Given the description of an element on the screen output the (x, y) to click on. 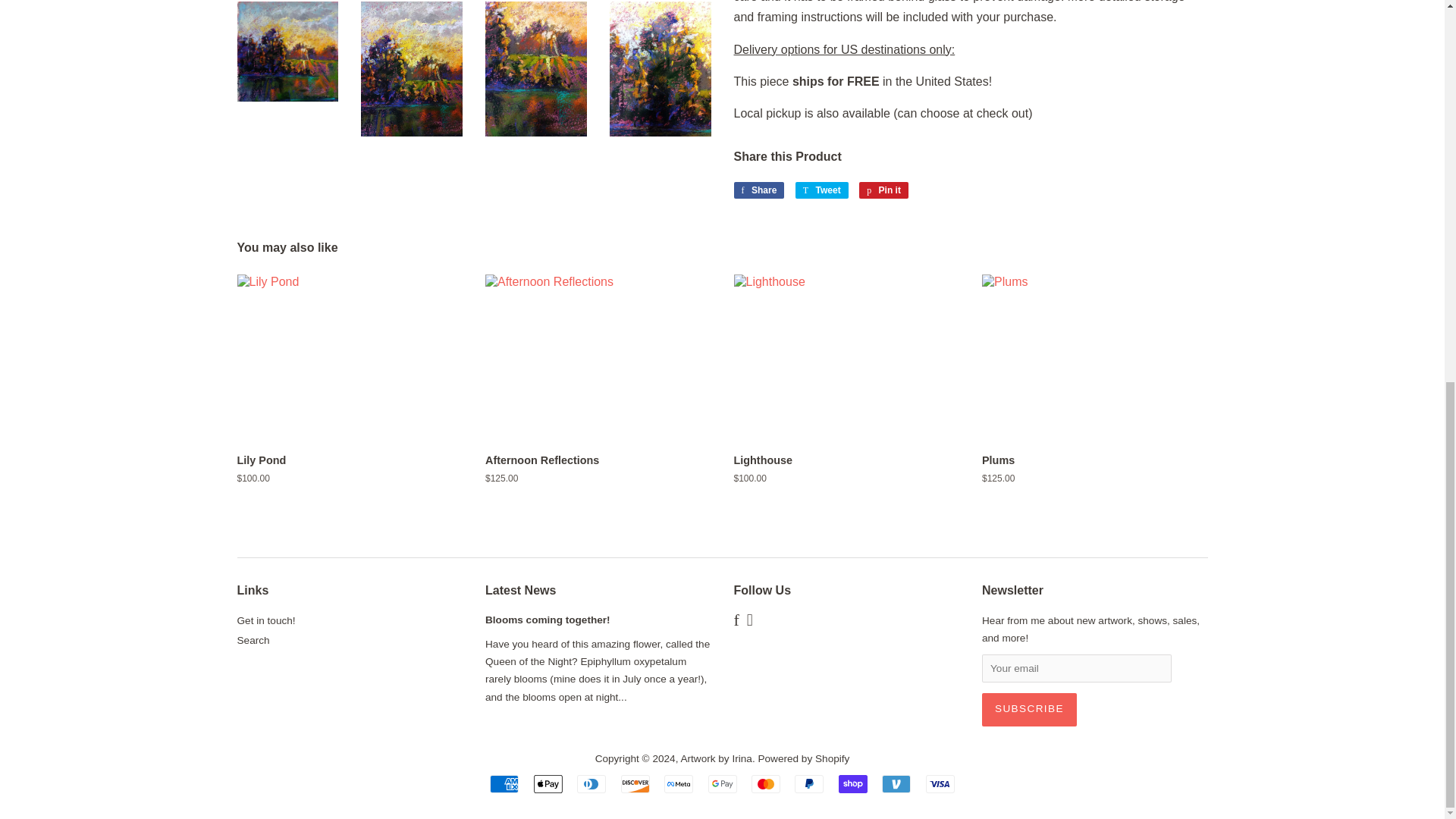
Tweet on Twitter (821, 190)
Artwork by Irina on Instagram (758, 190)
Get in touch! (749, 621)
Apple Pay (265, 619)
Share on Facebook (548, 783)
Visa (883, 190)
Pin on Pinterest (758, 190)
Facebook (940, 783)
Subscribe (821, 190)
Search (883, 190)
PayPal (736, 621)
Diners Club (1029, 709)
